Given the description of an element on the screen output the (x, y) to click on. 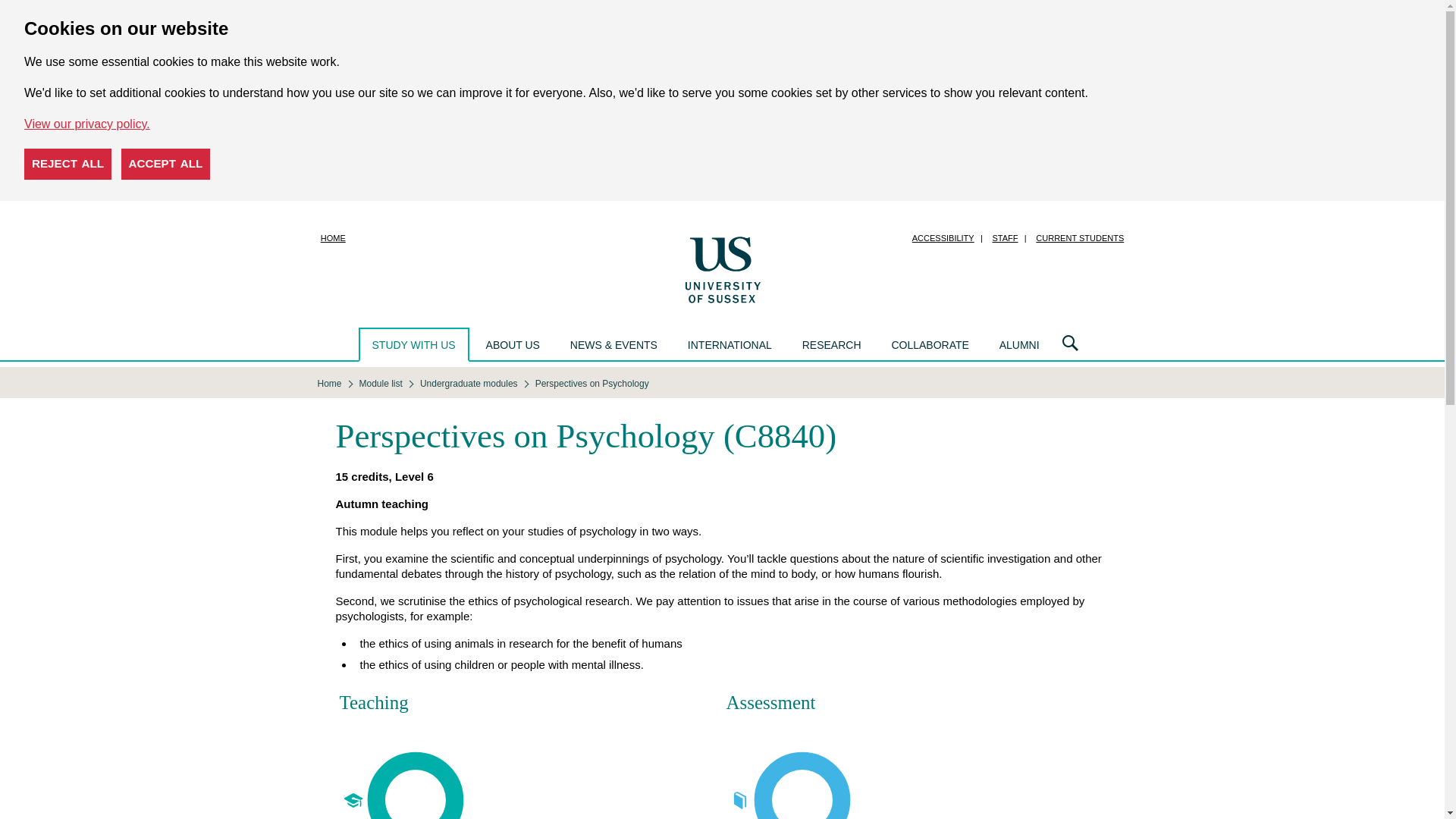
REJECT ALL (68, 163)
University of Sussex (722, 268)
ACCEPT ALL (165, 163)
ACCESSIBILITY (942, 238)
Search (1070, 343)
STAFF (1005, 238)
STUDY WITH US (413, 344)
View our privacy policy. (86, 123)
CURRENT STUDENTS (1079, 238)
HOME (333, 238)
